Given the description of an element on the screen output the (x, y) to click on. 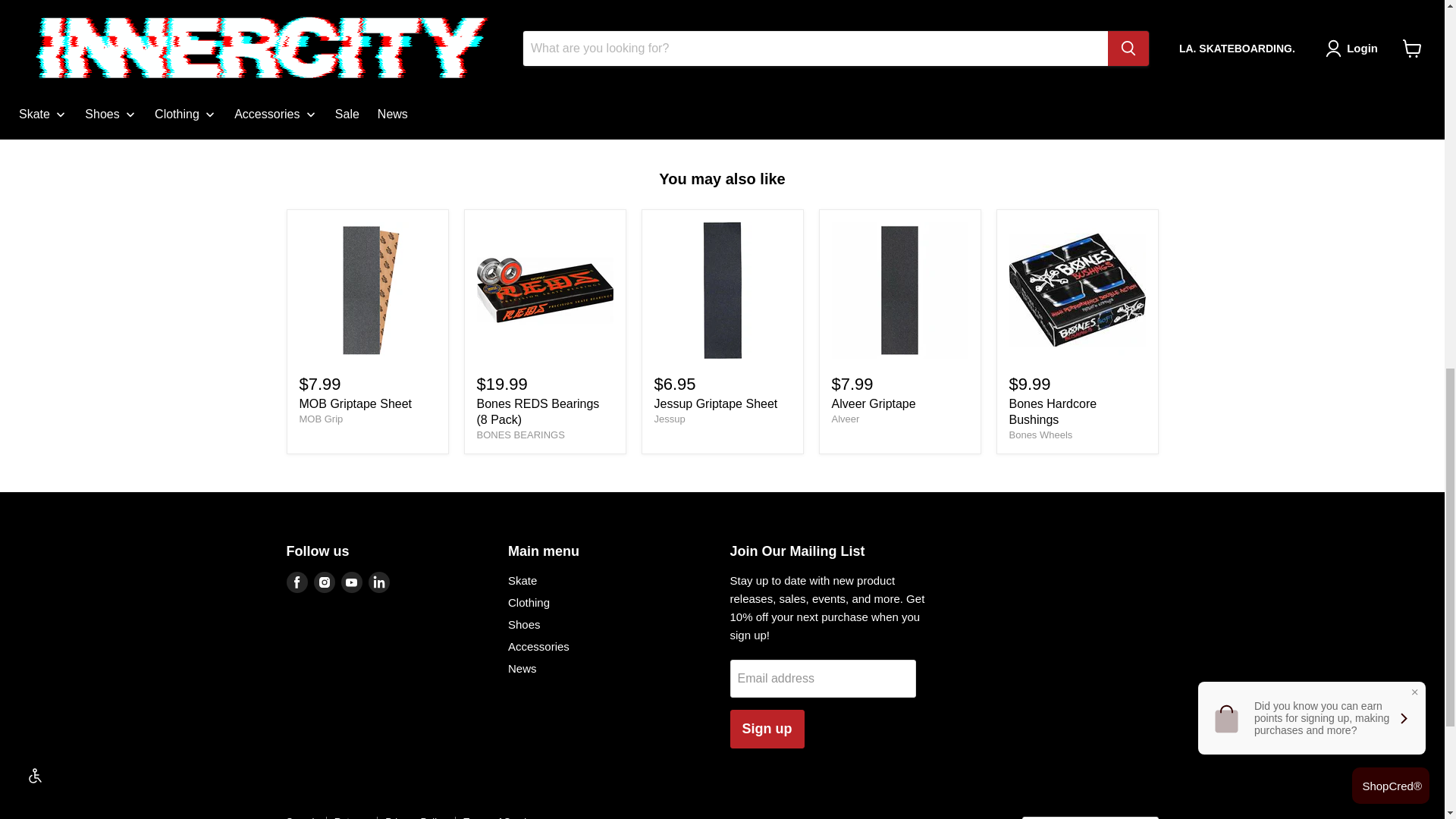
Facebook (296, 581)
Jessup (668, 419)
Bones Wheels (1040, 434)
Alveer (845, 419)
LinkedIn (379, 581)
Youtube (351, 581)
MOB Grip (320, 419)
Instagram (324, 581)
BONES BEARINGS (520, 434)
